Given the description of an element on the screen output the (x, y) to click on. 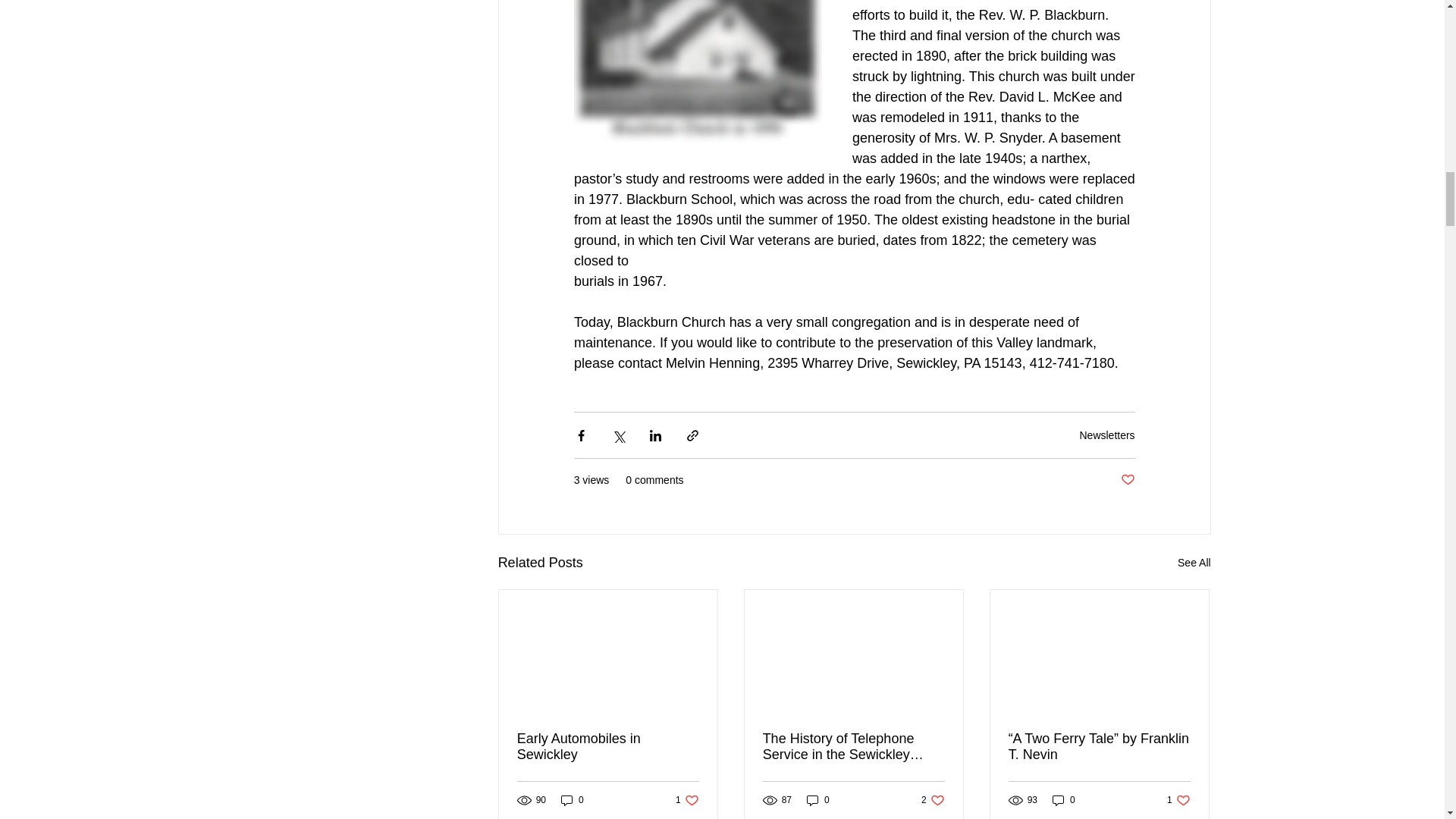
The History of Telephone Service in the Sewickley Valley (853, 746)
Post not marked as liked (1128, 480)
0 (686, 800)
Early Automobiles in Sewickley (818, 800)
See All (932, 800)
0 (607, 746)
Newsletters (1194, 563)
